Given the description of an element on the screen output the (x, y) to click on. 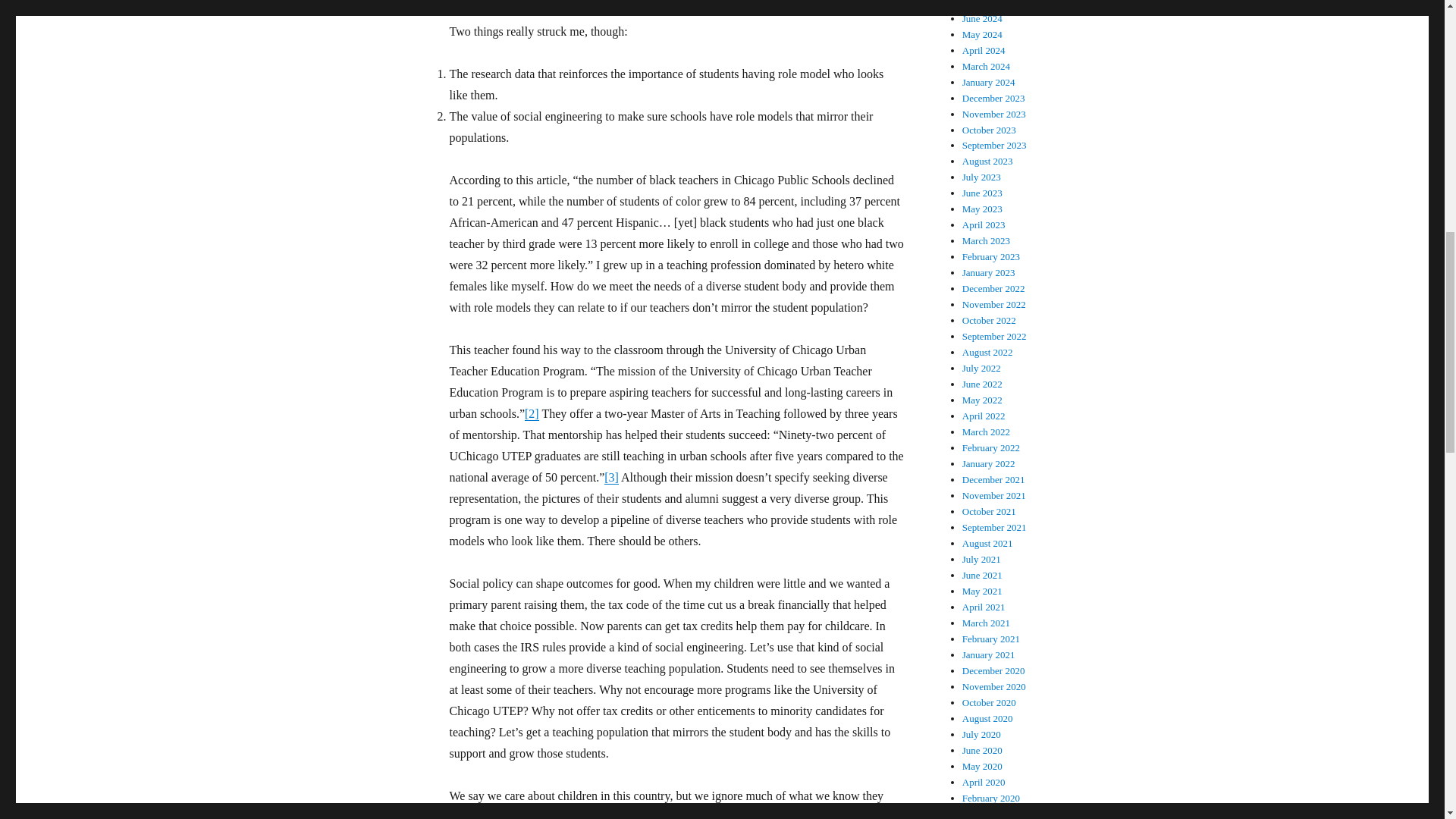
April 2024 (984, 50)
March 2024 (986, 66)
January 2024 (988, 81)
May 2024 (982, 34)
July 2024 (981, 4)
June 2024 (982, 18)
